Given the description of an element on the screen output the (x, y) to click on. 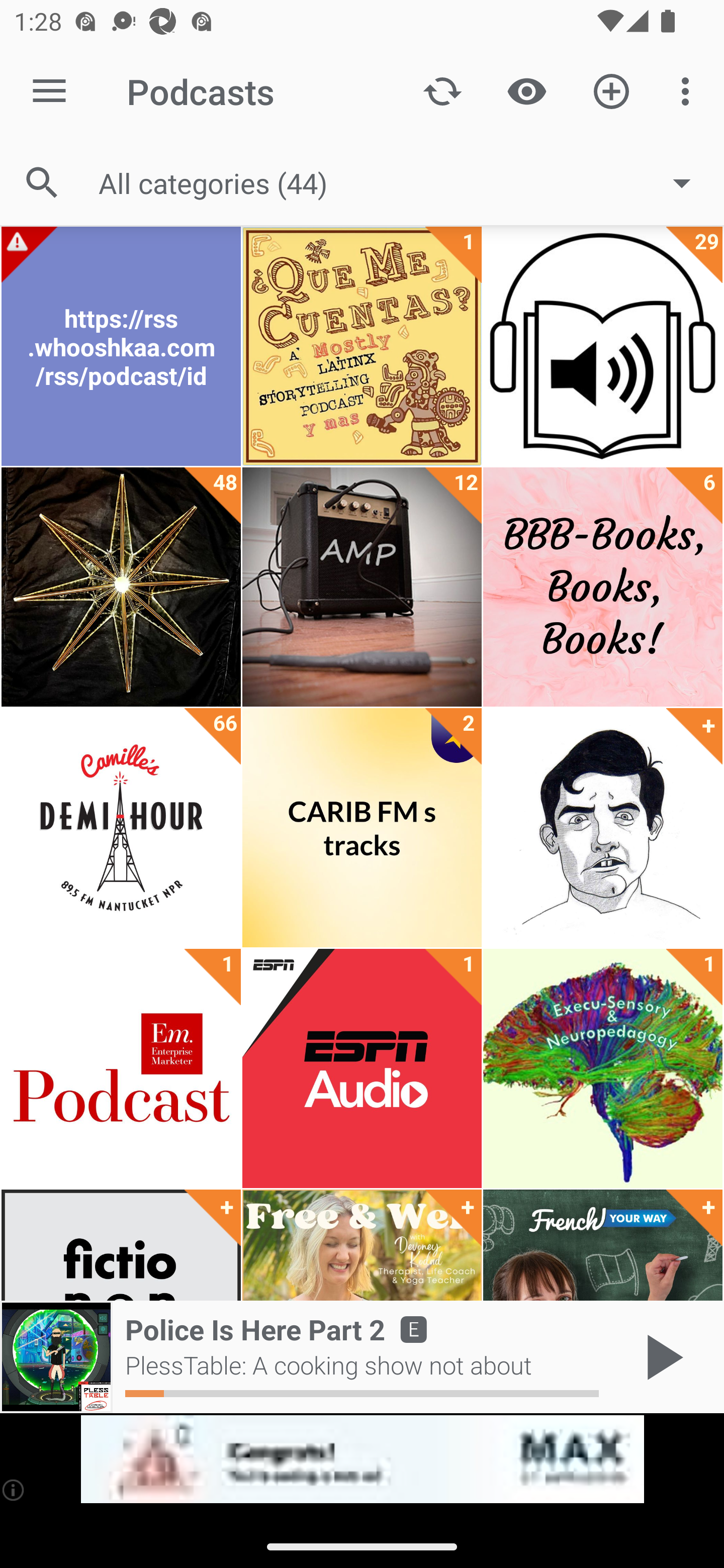
Open navigation sidebar (49, 91)
Update (442, 90)
Show / Hide played content (526, 90)
Add new Podcast (611, 90)
More options (688, 90)
Search (42, 183)
All categories (44) (404, 182)
https://rss.whooshkaa.com/rss/podcast/id/5884 (121, 346)
¿Qué Me Cuentas?: Latinx Storytelling 1 (361, 346)
Audiobooks 29 (602, 346)
Audiobooks 48 (121, 587)
Australian Music Podcasts 12 (361, 587)
BBB-Books, Books, Books! 6 (602, 587)
Camille's Demi-Hour - NANTUCKET NPR 66 (121, 827)
CARIB FM's tracks 2 (361, 827)
Cooking Issues with Dave Arnold + (602, 827)
Enterprise Marketer Podcast - Conference 1 (121, 1068)
ESPN Audio 1 (361, 1068)
Play / Pause (660, 1356)
app-monetization (362, 1459)
(i) (14, 1489)
